Given the description of an element on the screen output the (x, y) to click on. 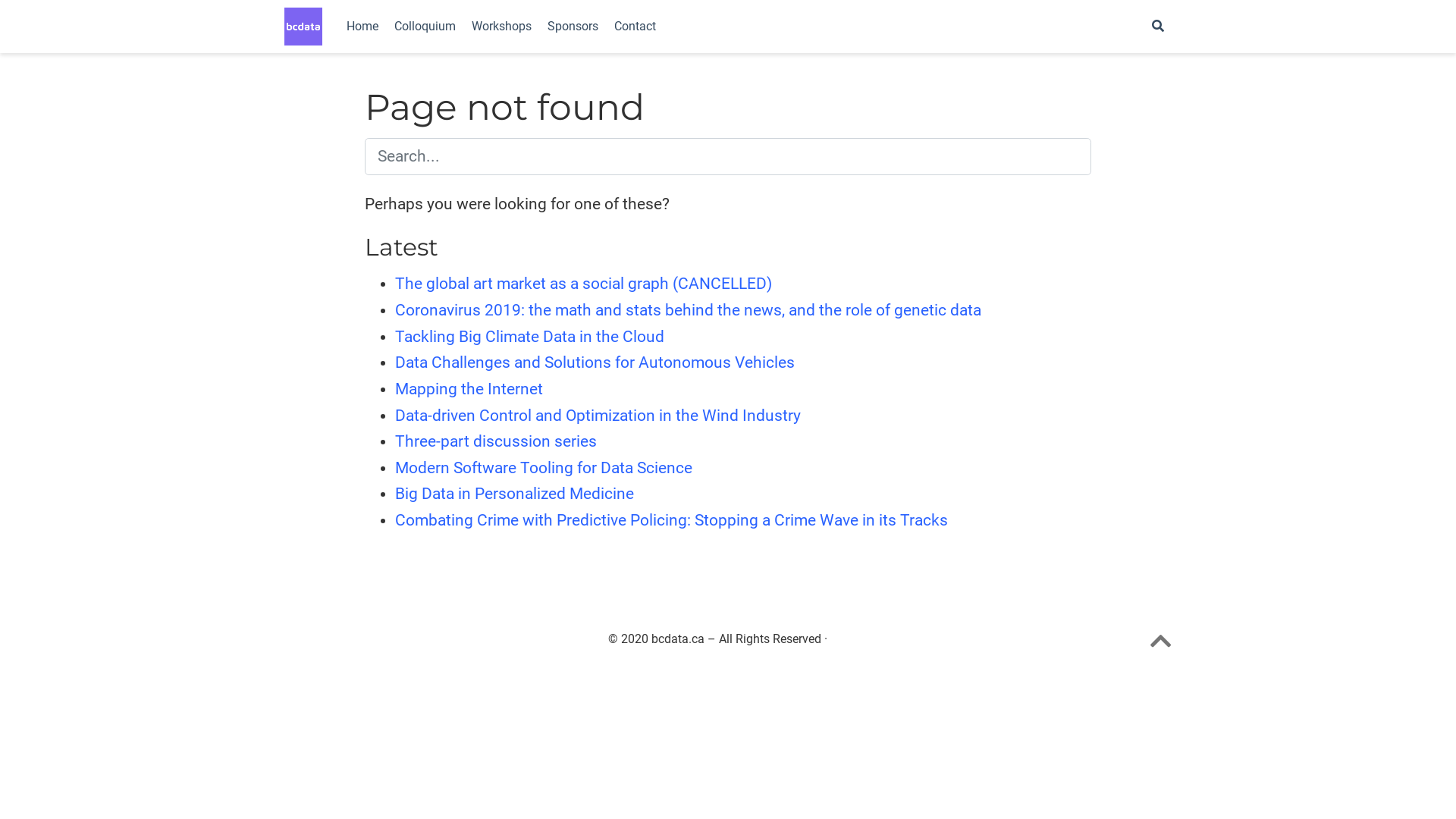
Workshops Element type: text (501, 26)
Contact Element type: text (634, 26)
Tackling Big Climate Data in the Cloud Element type: text (529, 336)
Sponsors Element type: text (572, 26)
Big Data in Personalized Medicine Element type: text (514, 493)
Three-part discussion series Element type: text (495, 441)
Data-driven Control and Optimization in the Wind Industry Element type: text (597, 415)
Data Challenges and Solutions for Autonomous Vehicles Element type: text (594, 362)
Colloquium Element type: text (424, 26)
Modern Software Tooling for Data Science Element type: text (543, 467)
Home Element type: text (361, 26)
The global art market as a social graph (CANCELLED) Element type: text (583, 283)
Mapping the Internet Element type: text (468, 388)
